Given the description of an element on the screen output the (x, y) to click on. 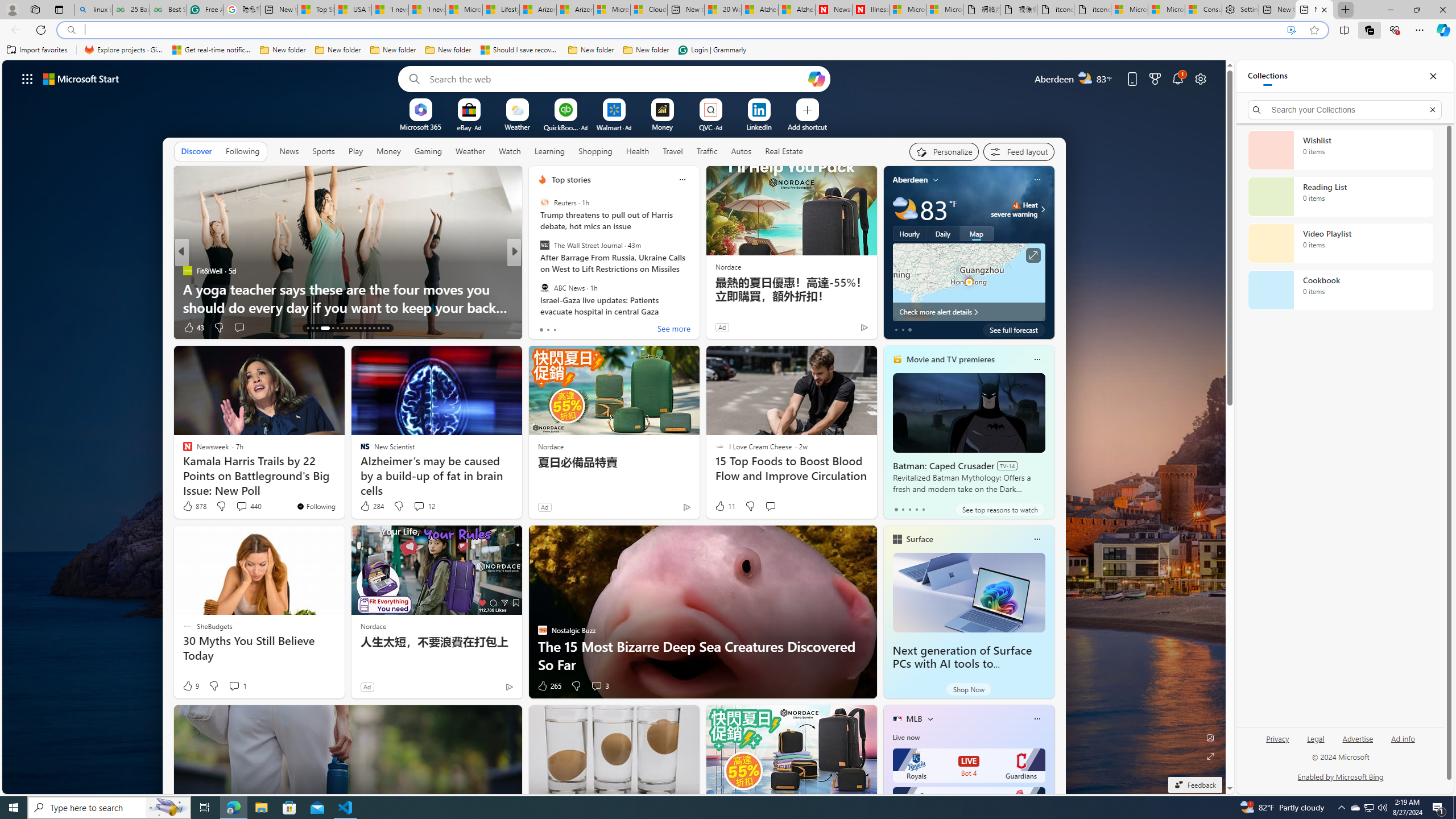
See full forecast (1013, 329)
265 Like (548, 685)
Class: control (27, 78)
My location (936, 179)
284 Like (370, 505)
Enhance video (1291, 29)
Watch (509, 151)
Exit search (1432, 109)
Eating for Better Sleep: 6 Foods High in Melatonin (697, 307)
Add a site (807, 126)
Get in the best shape of your (697, 307)
21 Like (543, 327)
Feed settings (1018, 151)
